Given the description of an element on the screen output the (x, y) to click on. 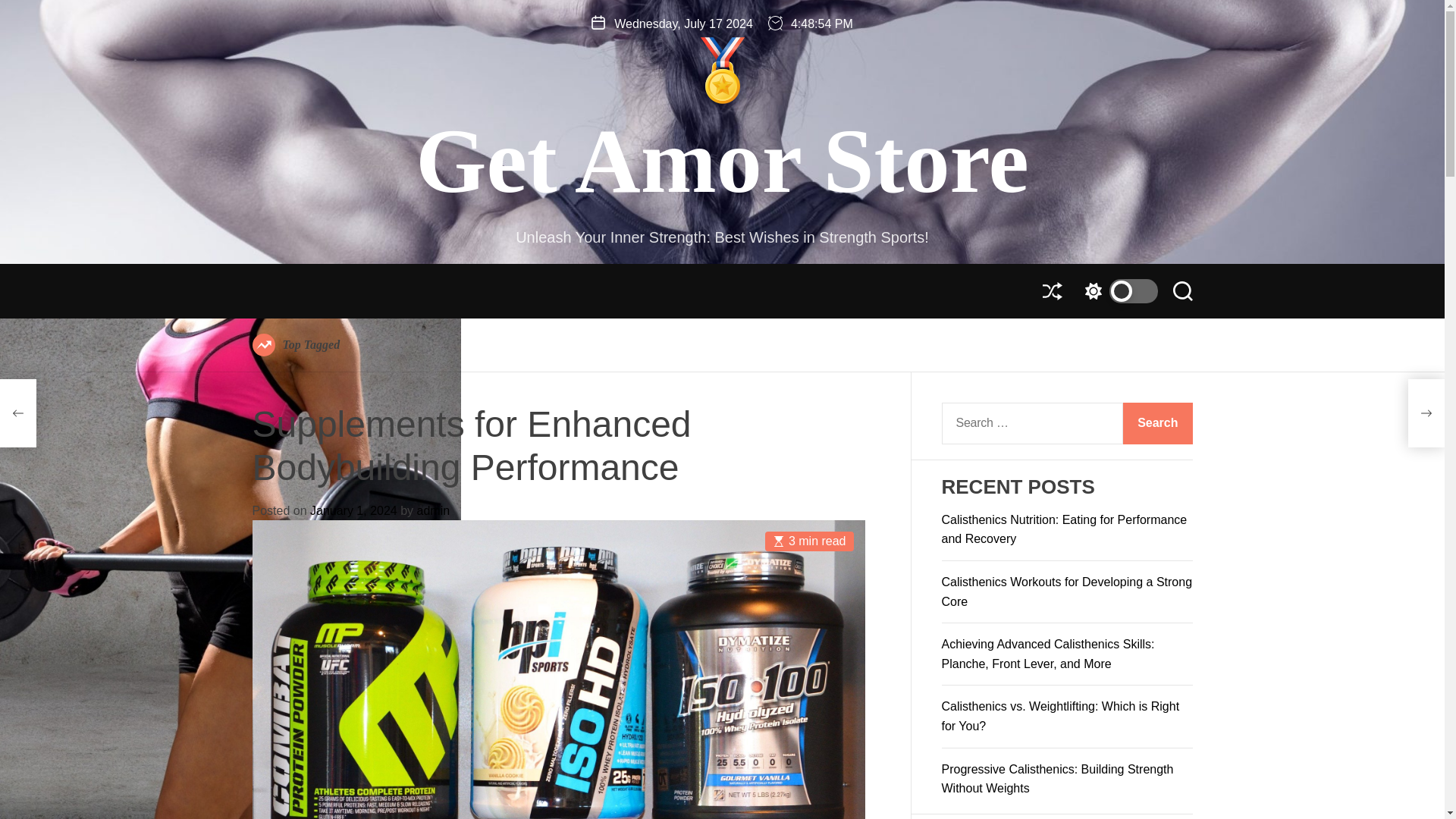
Calisthenics Workouts for Developing a Strong Core (1067, 591)
Search (1157, 423)
Search (1182, 291)
Calisthenics Nutrition: Eating for Performance and Recovery (1065, 529)
January 1, 2024 (353, 510)
Progressive Calisthenics: Building Strength Without Weights (1057, 778)
Search (1157, 423)
Get Amor Store (721, 161)
Calisthenics vs. Weightlifting: Which is Right for You? (1060, 716)
admin (432, 510)
Search (1157, 423)
Switch color mode (1117, 291)
Shuffle (1051, 291)
